Given the description of an element on the screen output the (x, y) to click on. 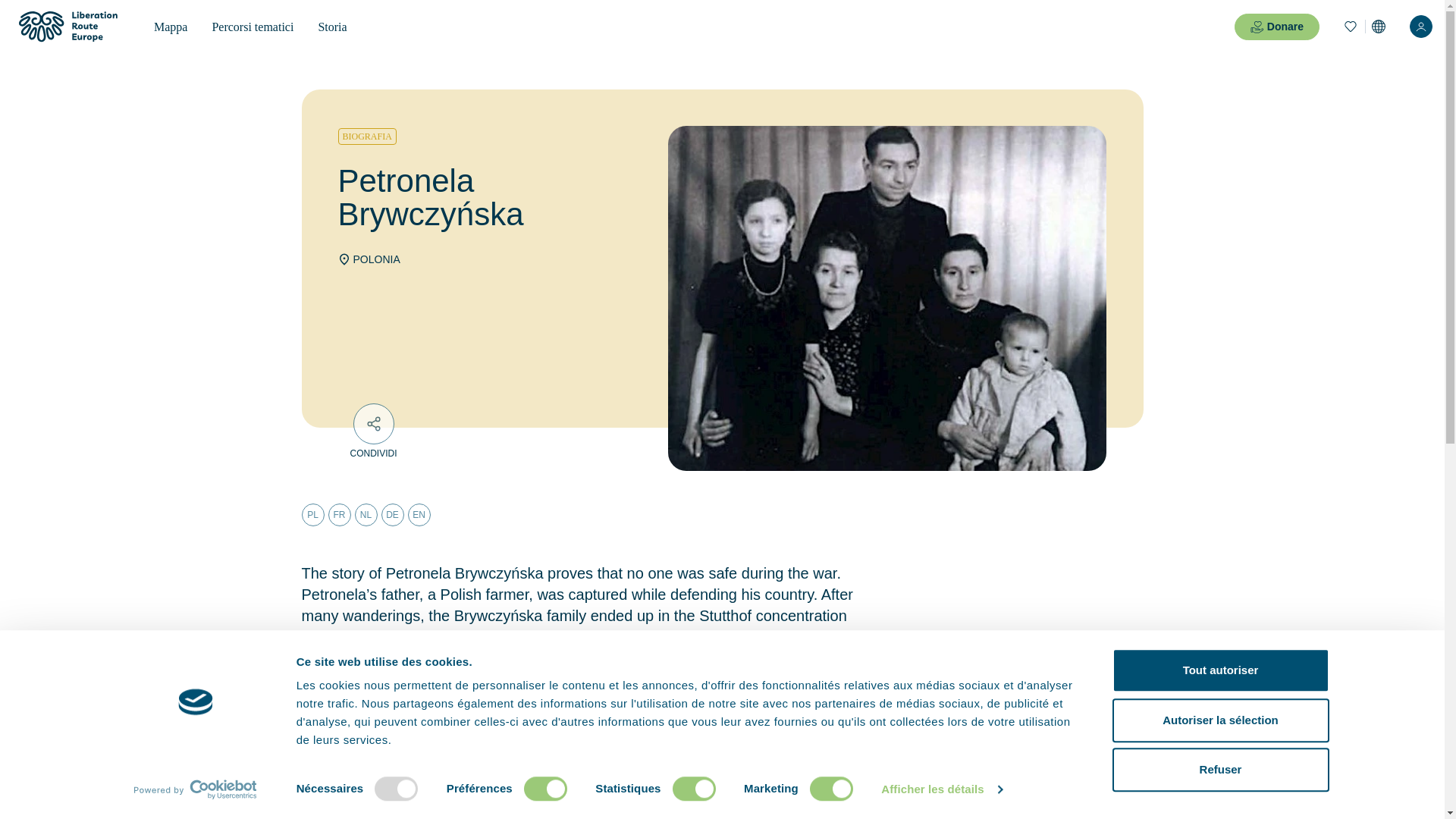
Refuser (1219, 769)
